Given the description of an element on the screen output the (x, y) to click on. 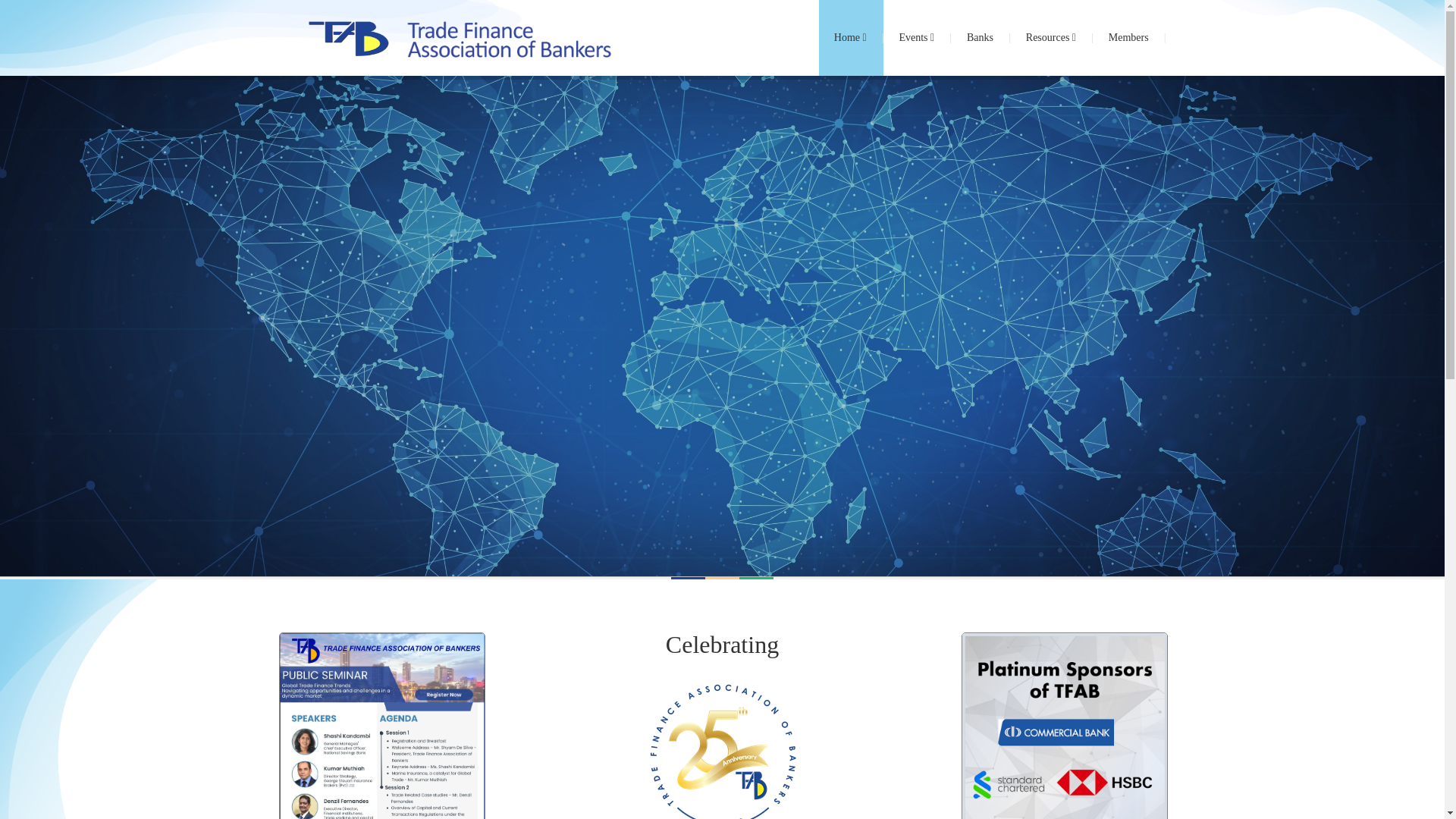
Members (1129, 38)
Events (917, 38)
Resources (1051, 38)
